Given the description of an element on the screen output the (x, y) to click on. 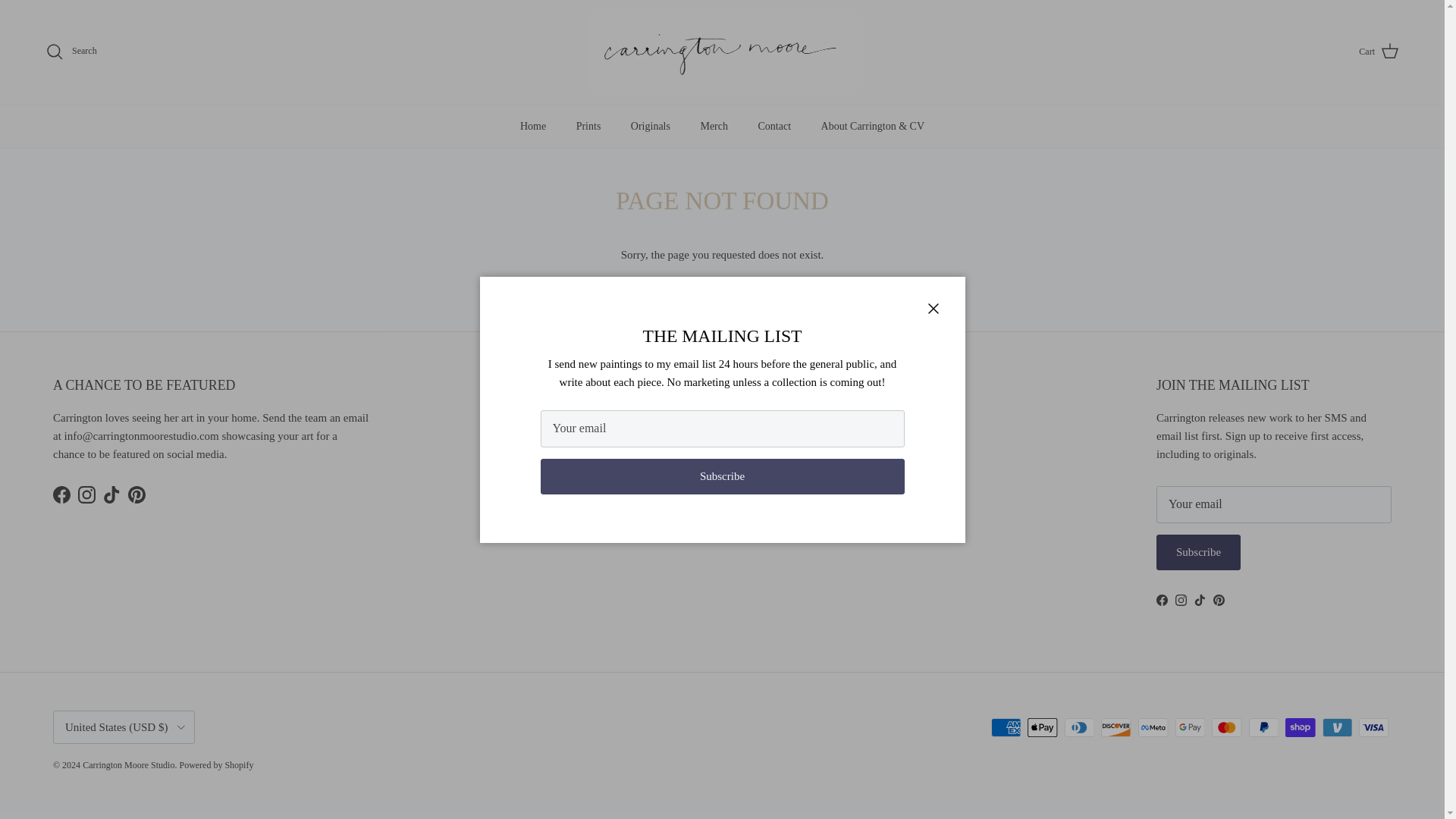
Carrington Moore Studio on Facebook (1161, 600)
Carrington Moore Studio on Instagram (87, 494)
Merch (713, 126)
Carrington Moore Studio on Instagram (1180, 600)
Carrington Moore Studio on TikTok (1199, 600)
Shop Pay (1299, 727)
Instagram (87, 494)
Carrington Moore Studio (722, 51)
Diners Club (1079, 727)
Originals (650, 126)
Pinterest (136, 494)
Apple Pay (1042, 727)
Prints (588, 126)
Carrington Moore Studio on TikTok (111, 494)
Cart (1378, 51)
